Given the description of an element on the screen output the (x, y) to click on. 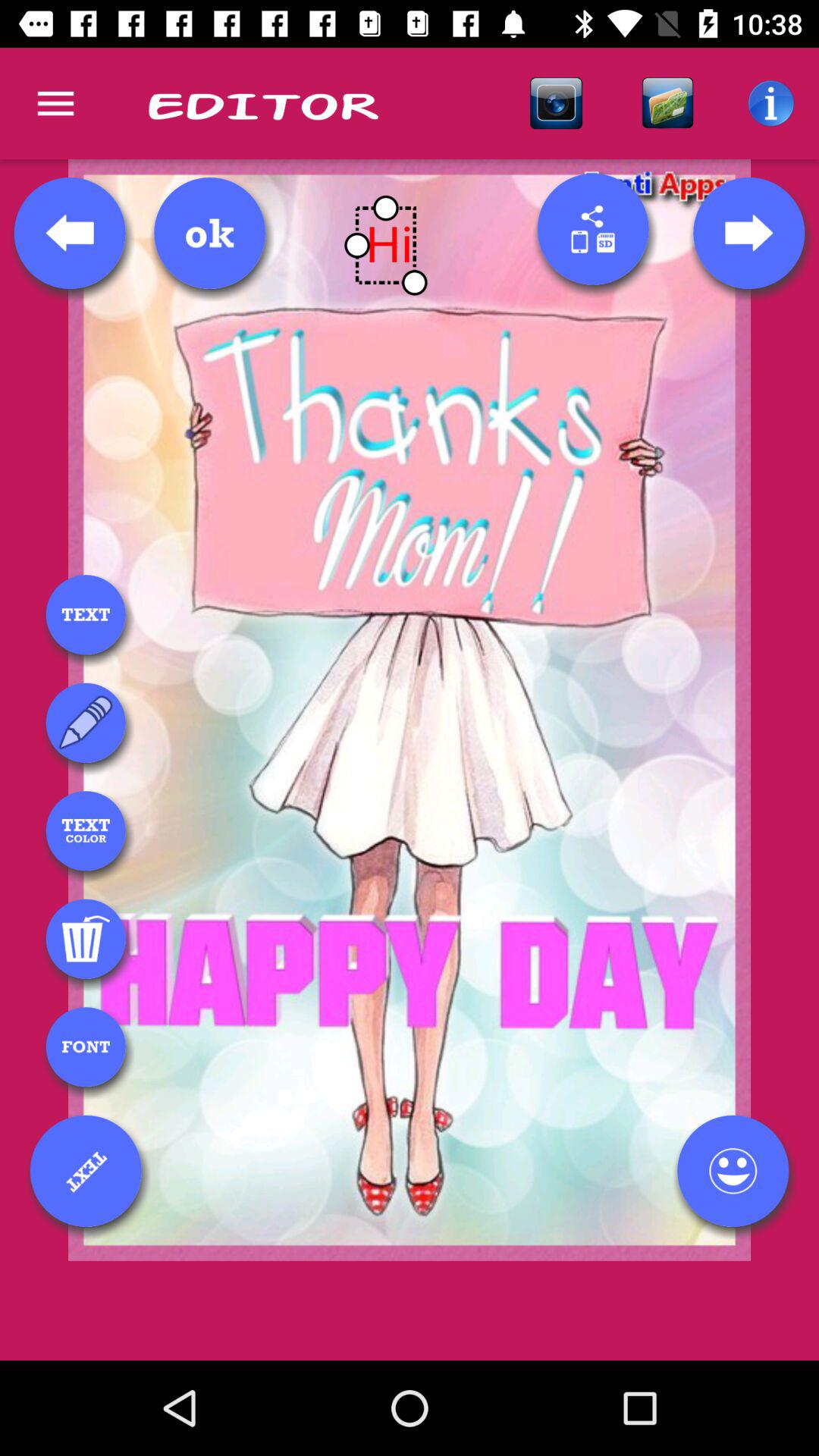
delete photo (85, 938)
